Given the description of an element on the screen output the (x, y) to click on. 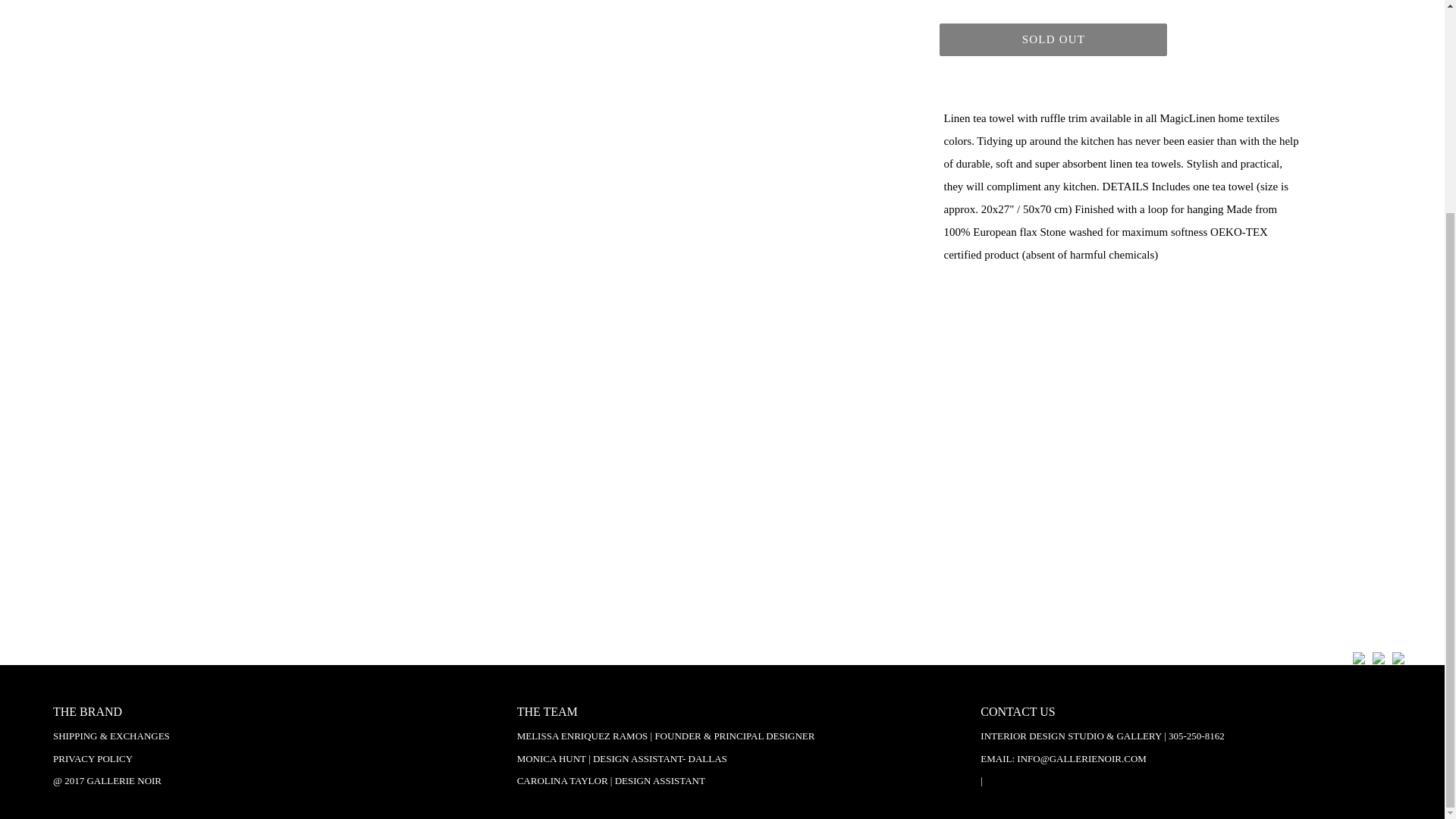
Gallerie Noir on Instagram (1398, 660)
Gallerie Noir on Facebook (1359, 660)
Gallerie Noir on Twitter (1378, 660)
